Given the description of an element on the screen output the (x, y) to click on. 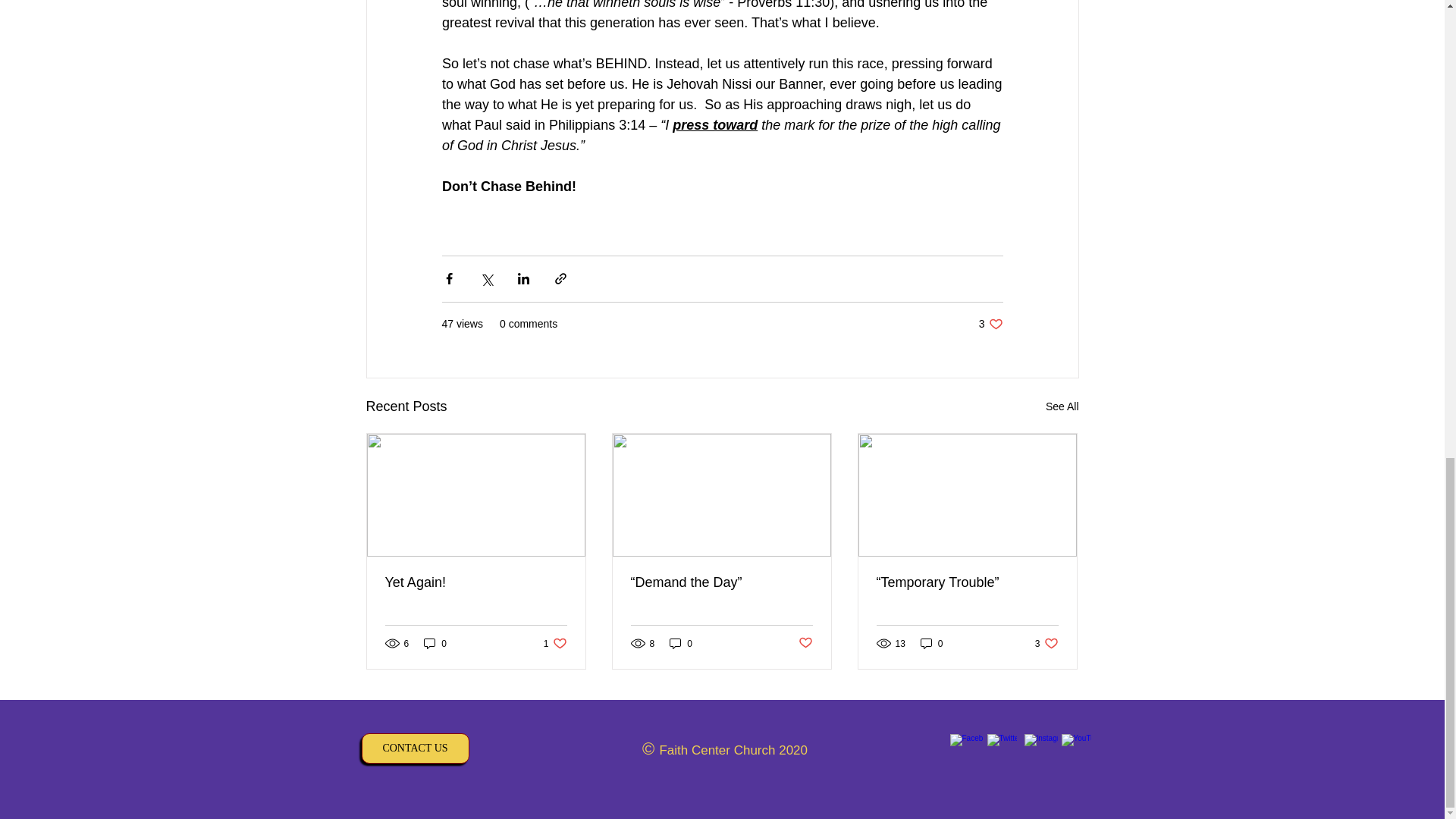
0 (931, 643)
0 (990, 323)
See All (681, 643)
0 (1061, 406)
Yet Again! (555, 643)
Post not marked as liked (435, 643)
CONTACT US (476, 582)
